Given the description of an element on the screen output the (x, y) to click on. 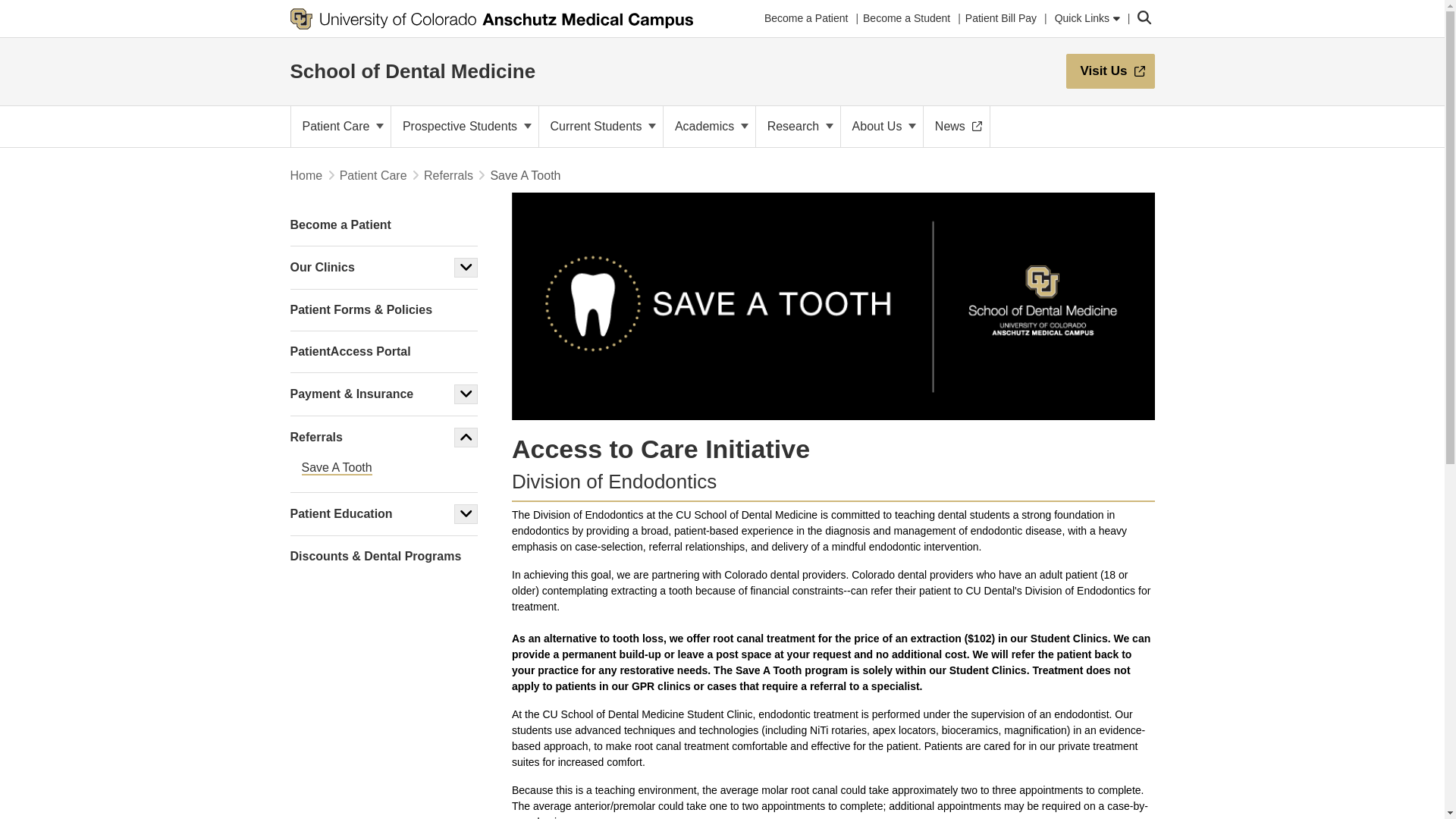
Patient Bill Pay (1000, 18)
Patient Care (340, 126)
Become a Student (906, 18)
Quick Links (1086, 18)
School of Dental Medicine (412, 70)
Become a Patient (806, 18)
Visit Us (1109, 71)
